Given the description of an element on the screen output the (x, y) to click on. 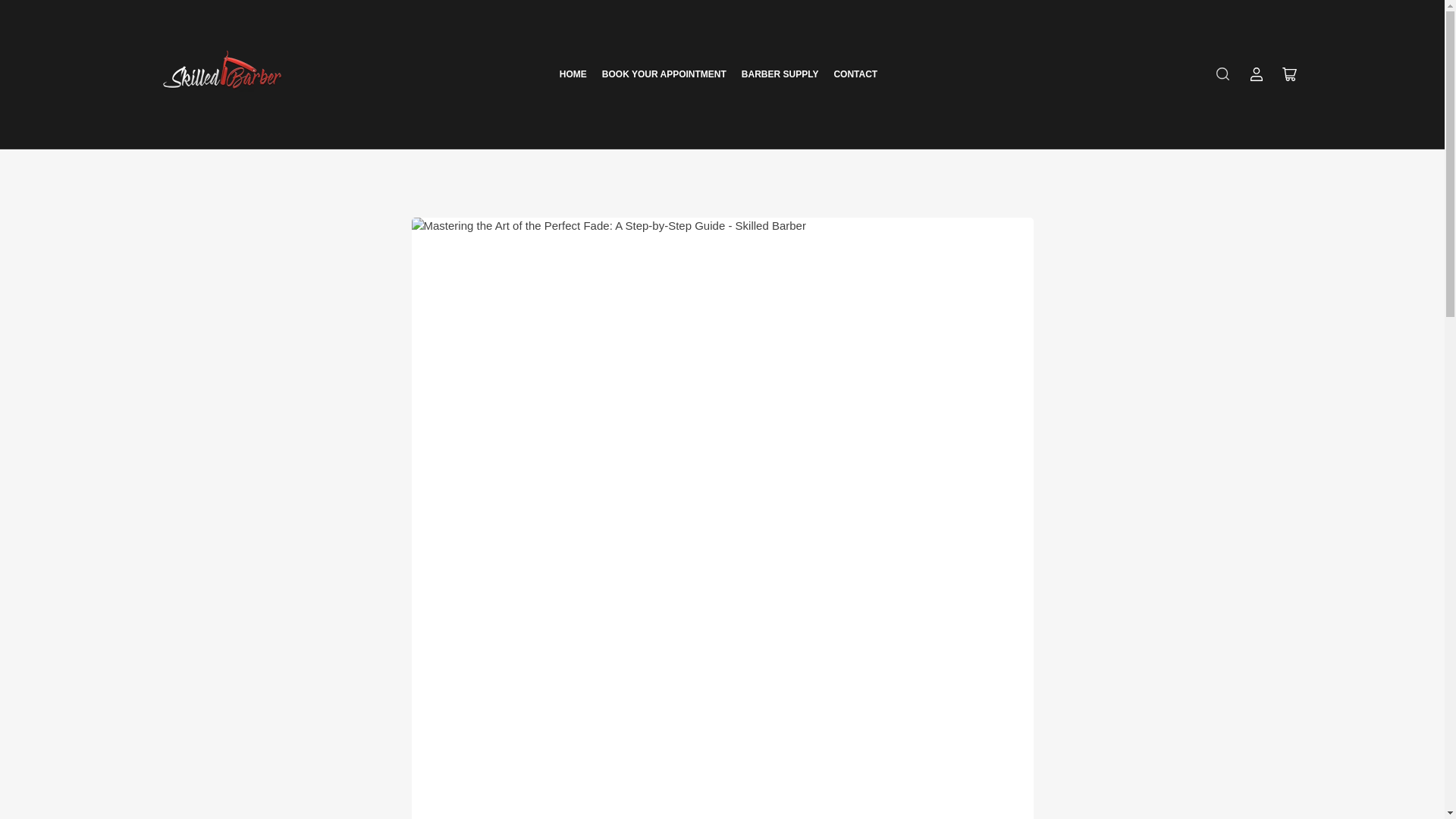
Log in (1255, 73)
Open mini cart (1289, 73)
HOME (572, 74)
BOOK YOUR APPOINTMENT (664, 74)
CONTACT (854, 74)
BARBER SUPPLY (779, 74)
